Given the description of an element on the screen output the (x, y) to click on. 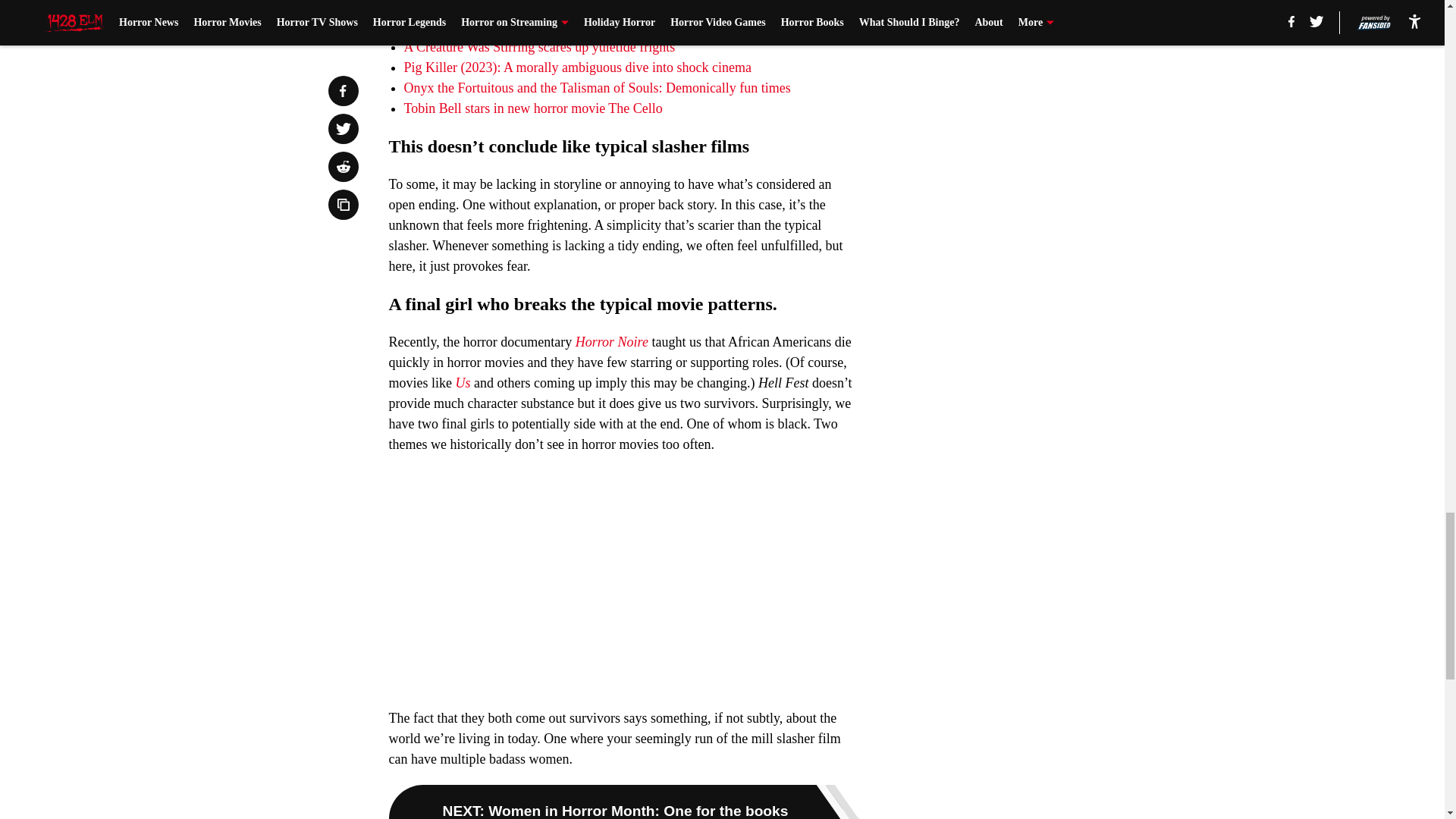
A Creature Was Stirring scares up yuletide frights (539, 46)
